Given the description of an element on the screen output the (x, y) to click on. 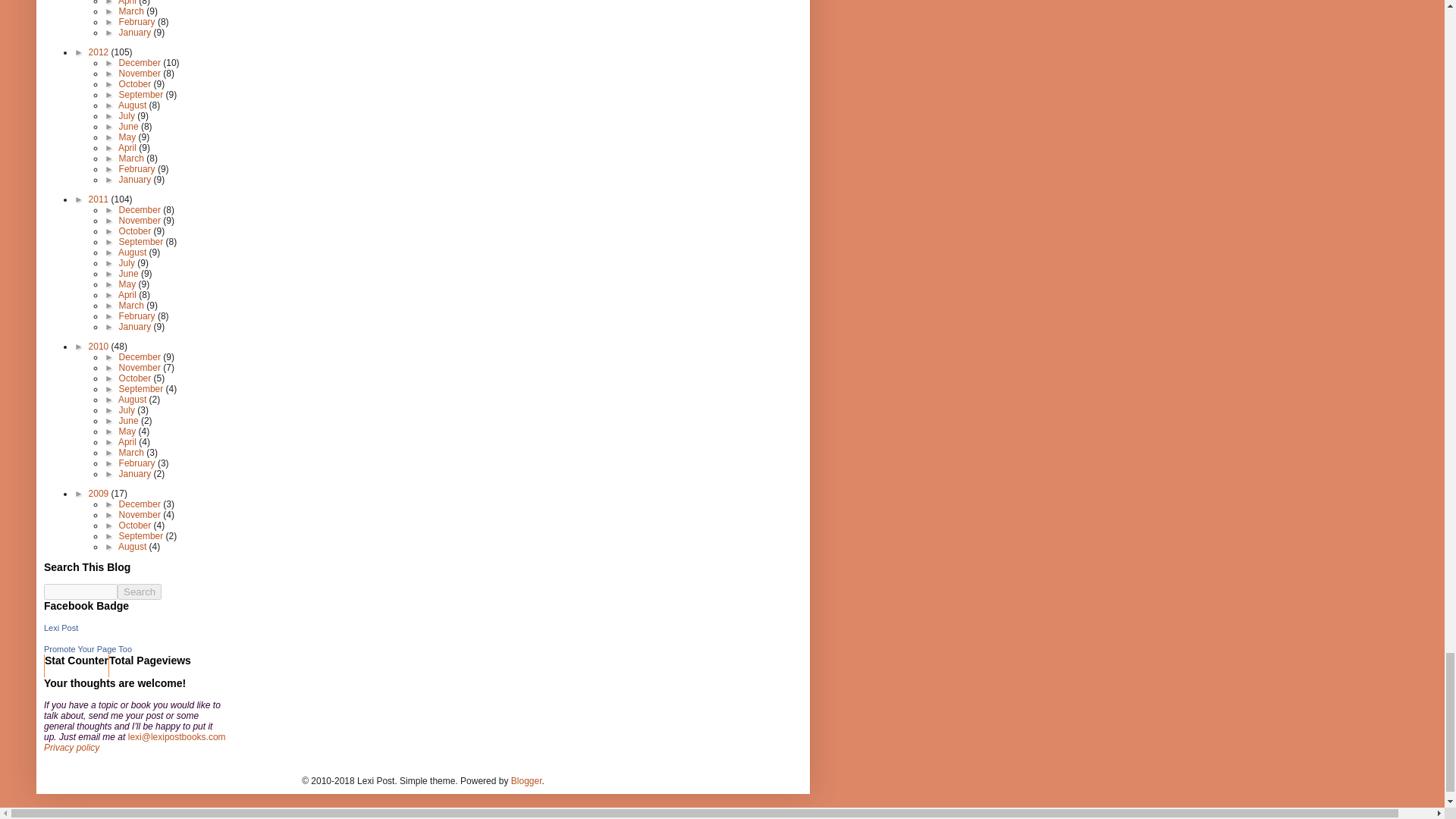
Search (139, 591)
Lexi Post (60, 627)
Search (139, 591)
search (80, 591)
search (139, 591)
